Given the description of an element on the screen output the (x, y) to click on. 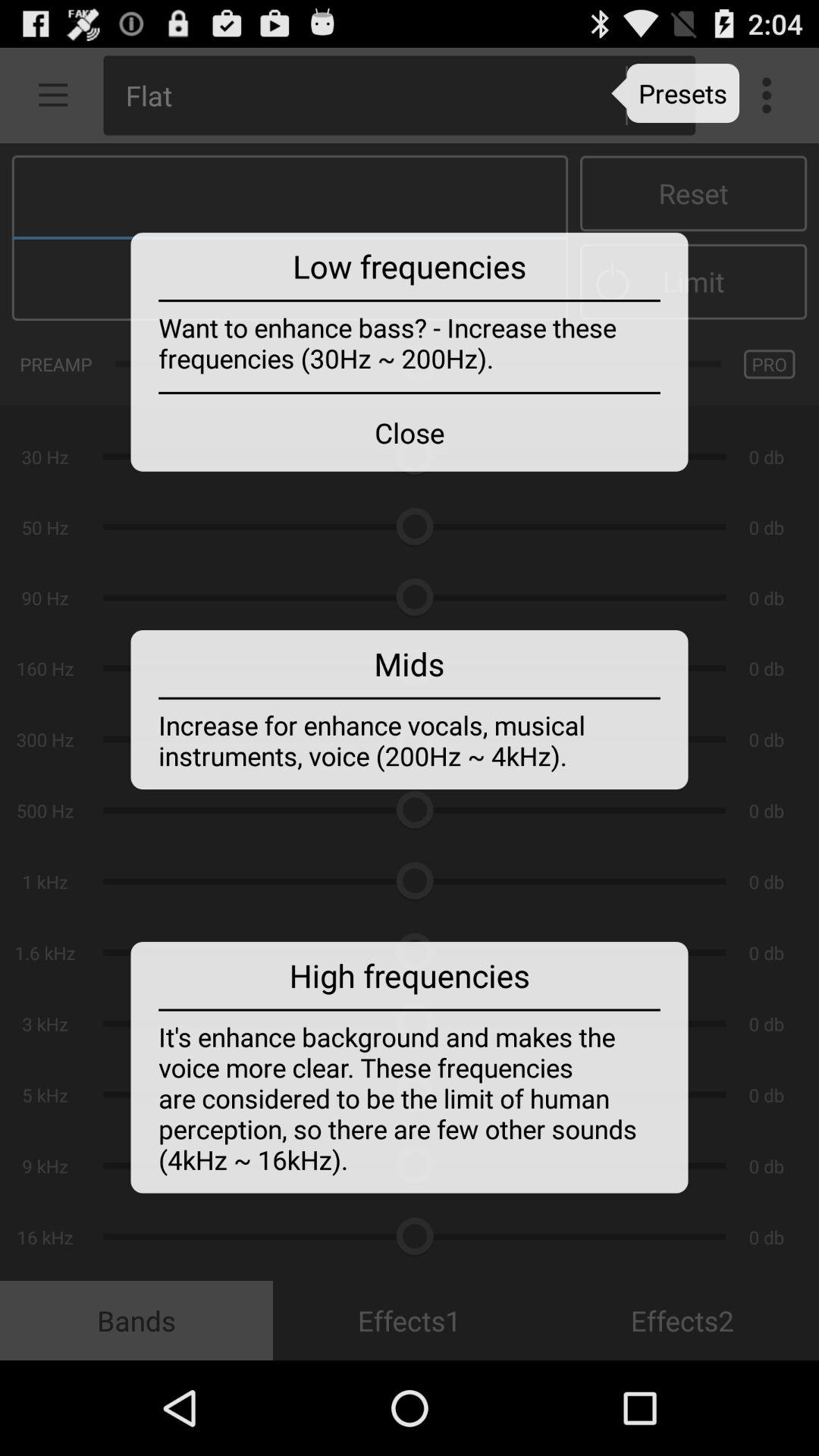
turn on the close (409, 432)
